Given the description of an element on the screen output the (x, y) to click on. 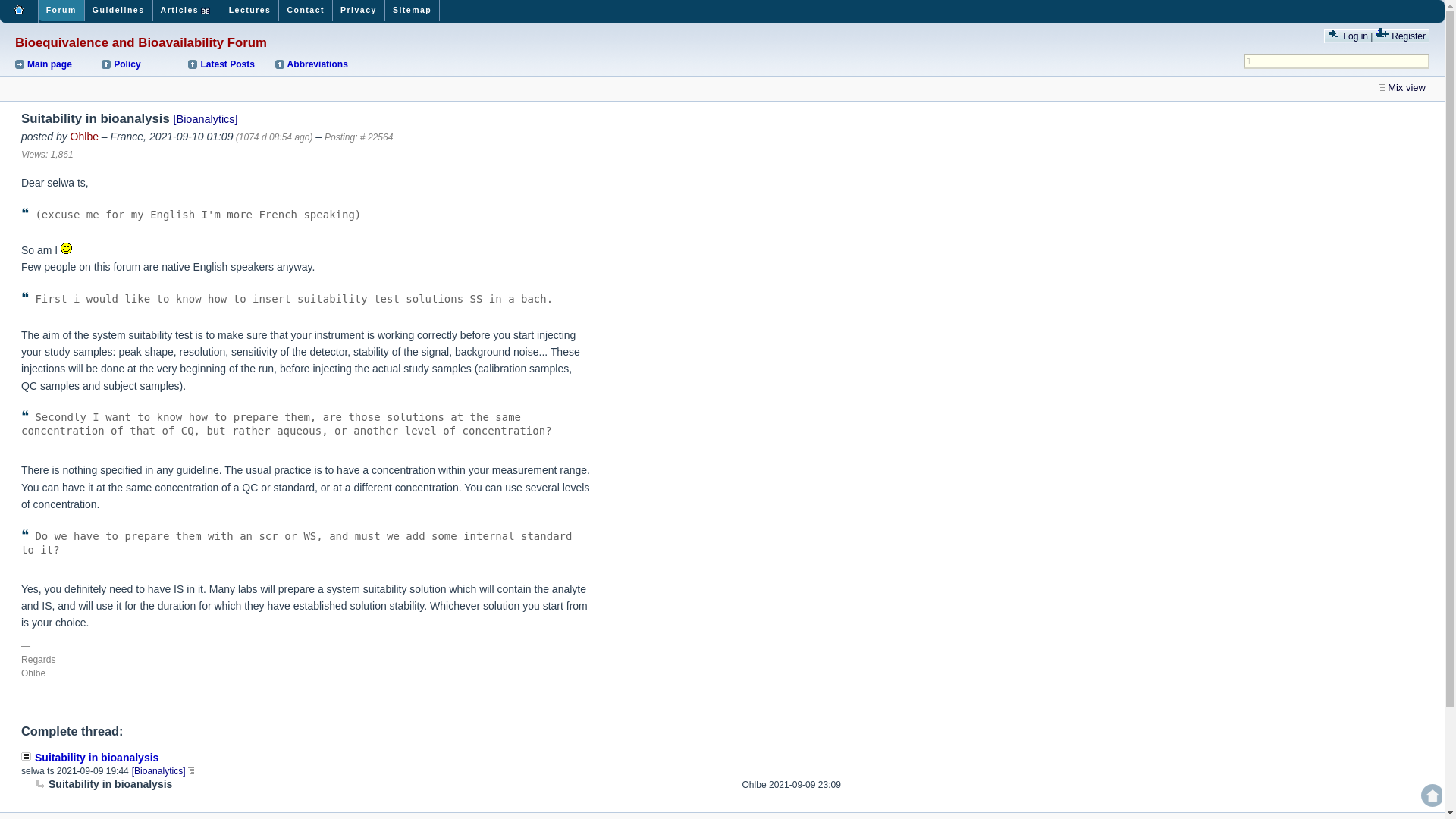
Contact (306, 10)
Main page (56, 64)
Collection of Articles (186, 11)
Policy (143, 64)
Mix view (1403, 87)
Sitemap (412, 10)
Guidelines (118, 10)
Privacy (359, 10)
enter search terms (1336, 60)
